Given the description of an element on the screen output the (x, y) to click on. 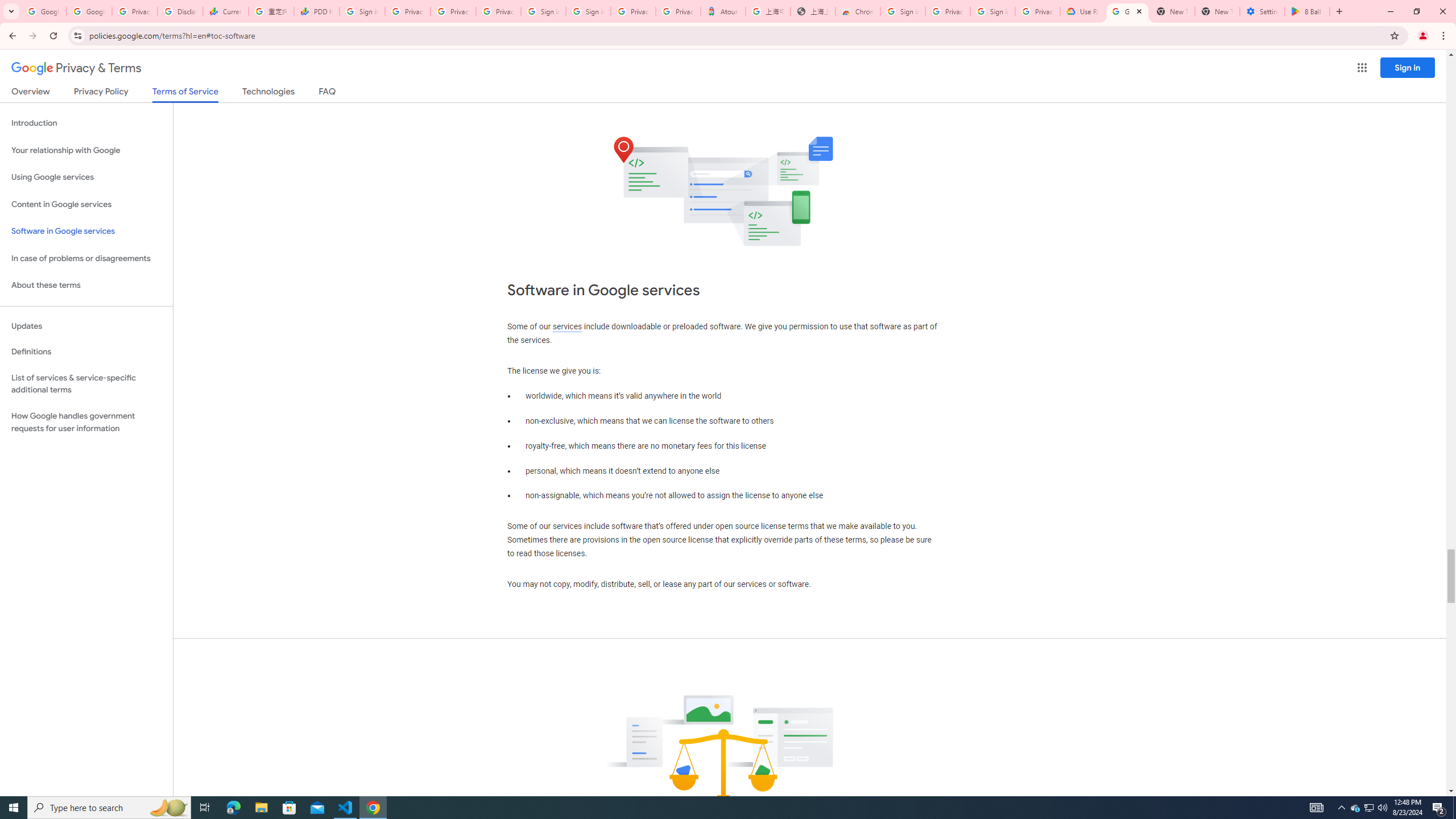
Software in Google services (86, 230)
Sign in - Google Accounts (902, 11)
Your relationship with Google (86, 150)
Definitions (86, 352)
8 Ball Pool - Apps on Google Play (1307, 11)
Privacy Checkup (452, 11)
